Given the description of an element on the screen output the (x, y) to click on. 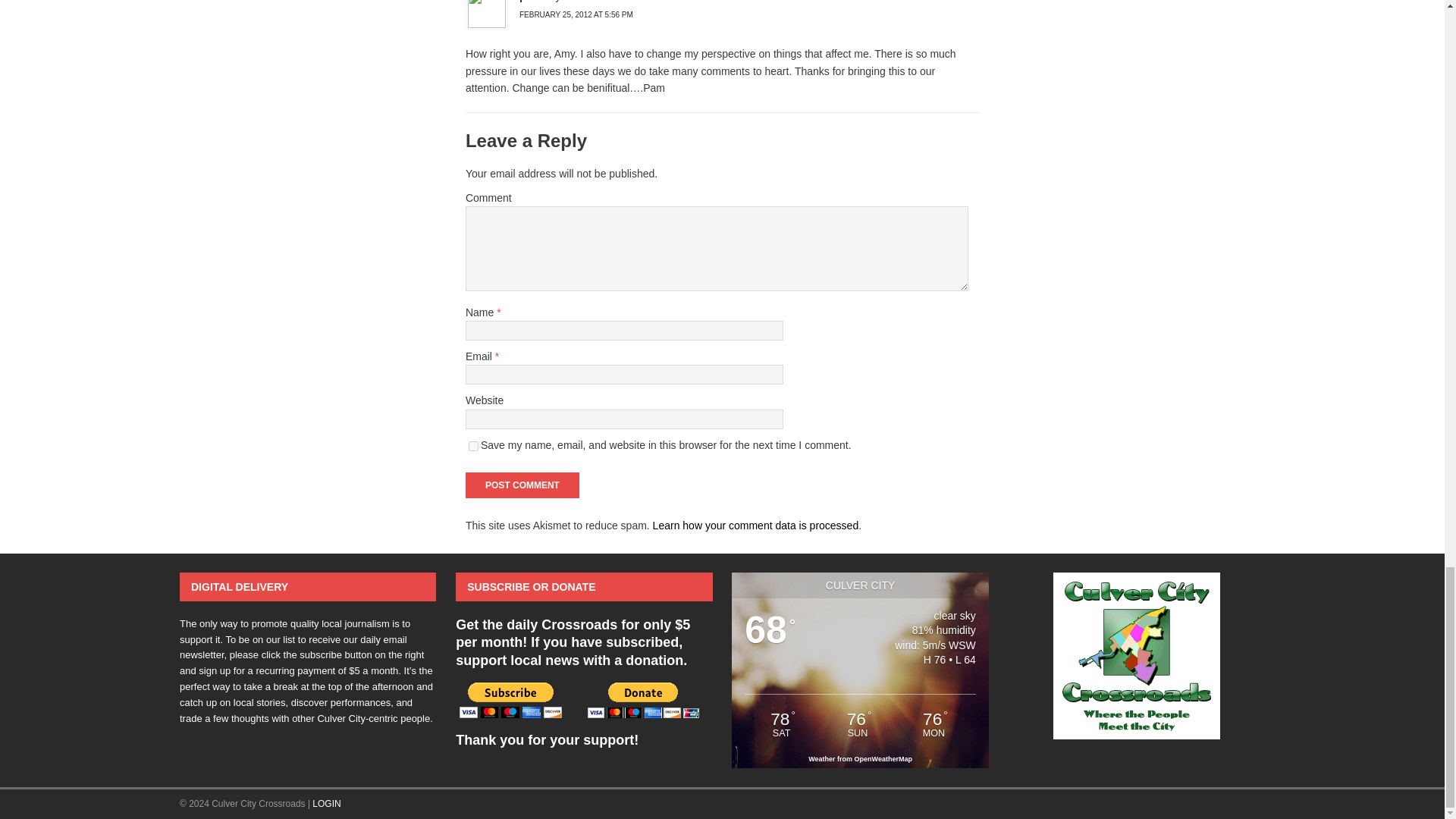
Post Comment (522, 484)
yes (473, 446)
